Given the description of an element on the screen output the (x, y) to click on. 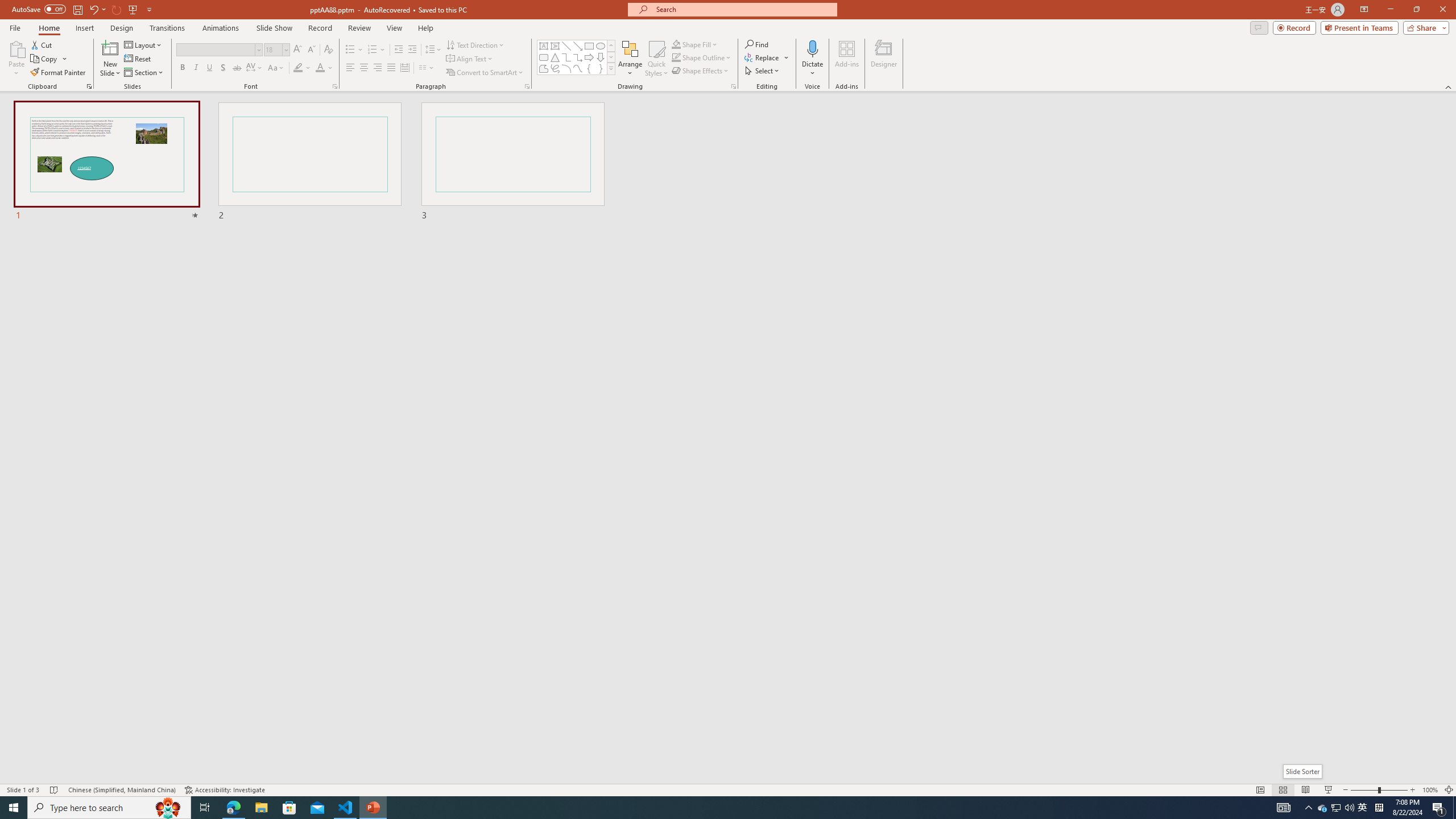
Italic (195, 67)
Quick Styles (656, 58)
New Slide (110, 58)
Copy (45, 58)
Arrange (630, 58)
Justify (390, 67)
Shape Fill (694, 44)
Right Brace (600, 68)
Align Right (377, 67)
Dictate (812, 58)
Spell Check No Errors (54, 790)
Present in Teams (1359, 27)
Font Color Red (320, 67)
Freeform: Scribble (554, 68)
